Given the description of an element on the screen output the (x, y) to click on. 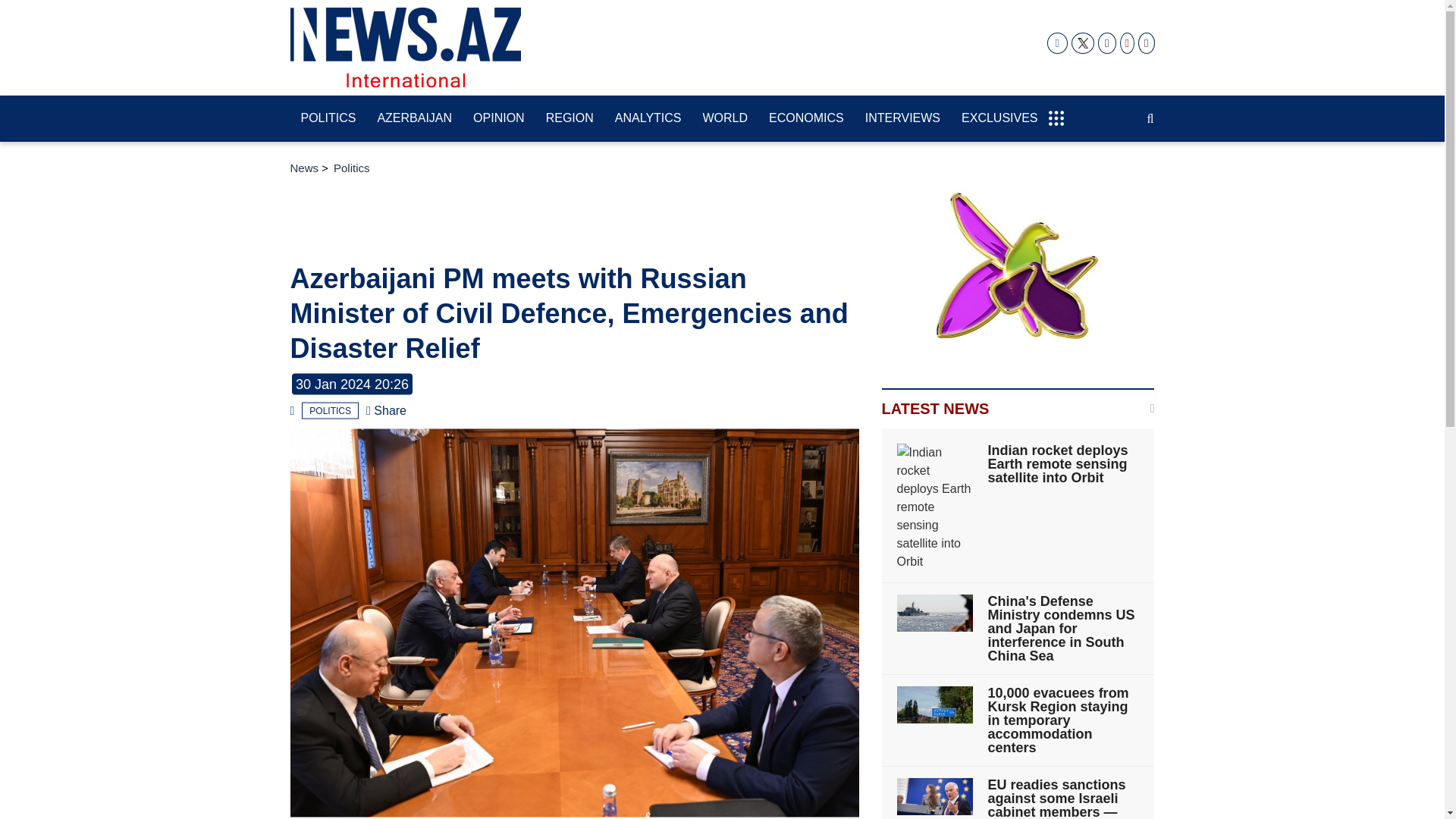
News.az (404, 47)
Politics (329, 410)
ANALYTICS (648, 119)
INTERVIEWS (902, 119)
twitter (1082, 43)
News (303, 167)
REGION (569, 119)
Menu (1056, 110)
Exclusives (999, 119)
AZERBAIJAN (414, 119)
